Given the description of an element on the screen output the (x, y) to click on. 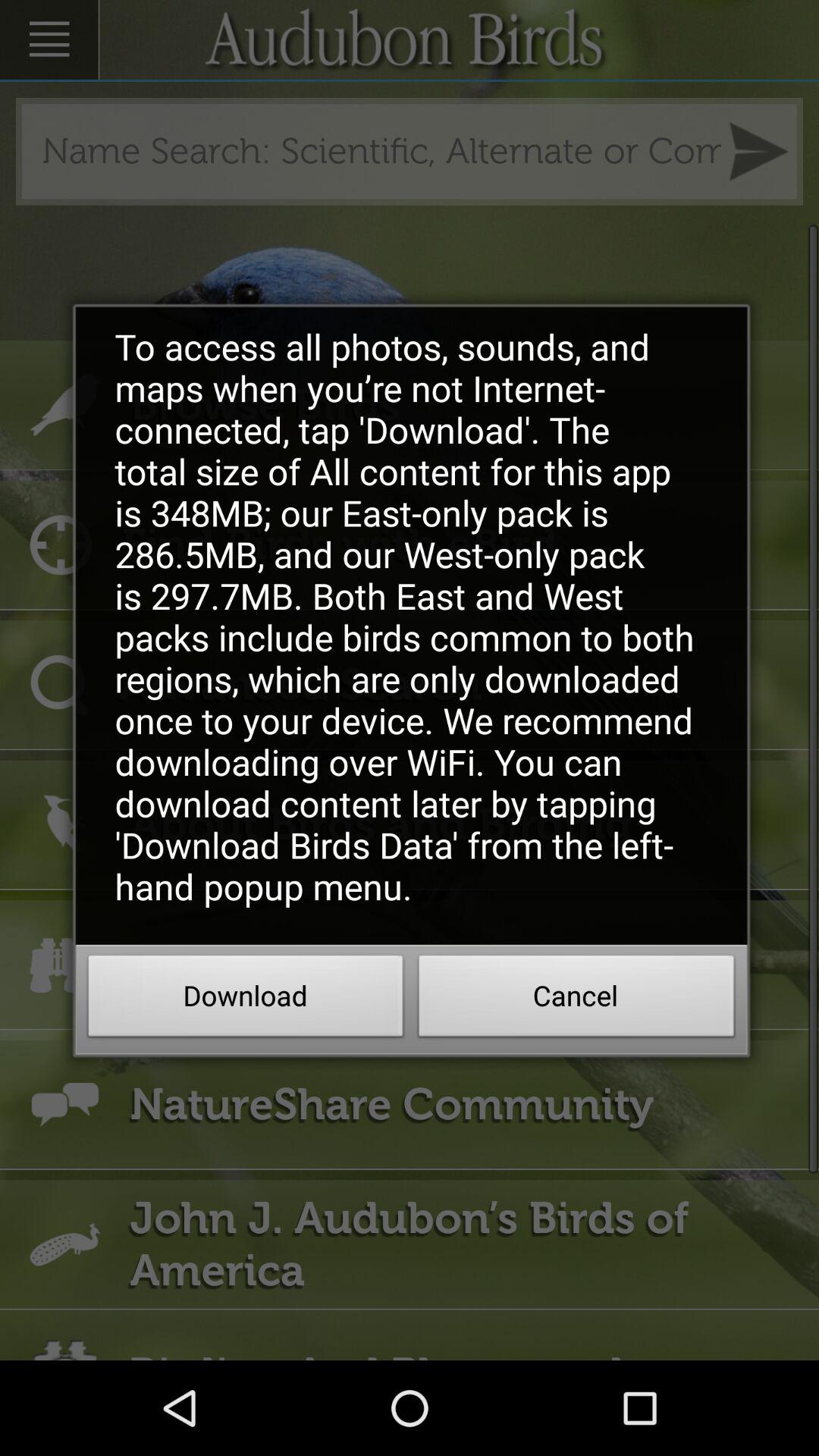
turn off the item below the to access all (576, 1000)
